Given the description of an element on the screen output the (x, y) to click on. 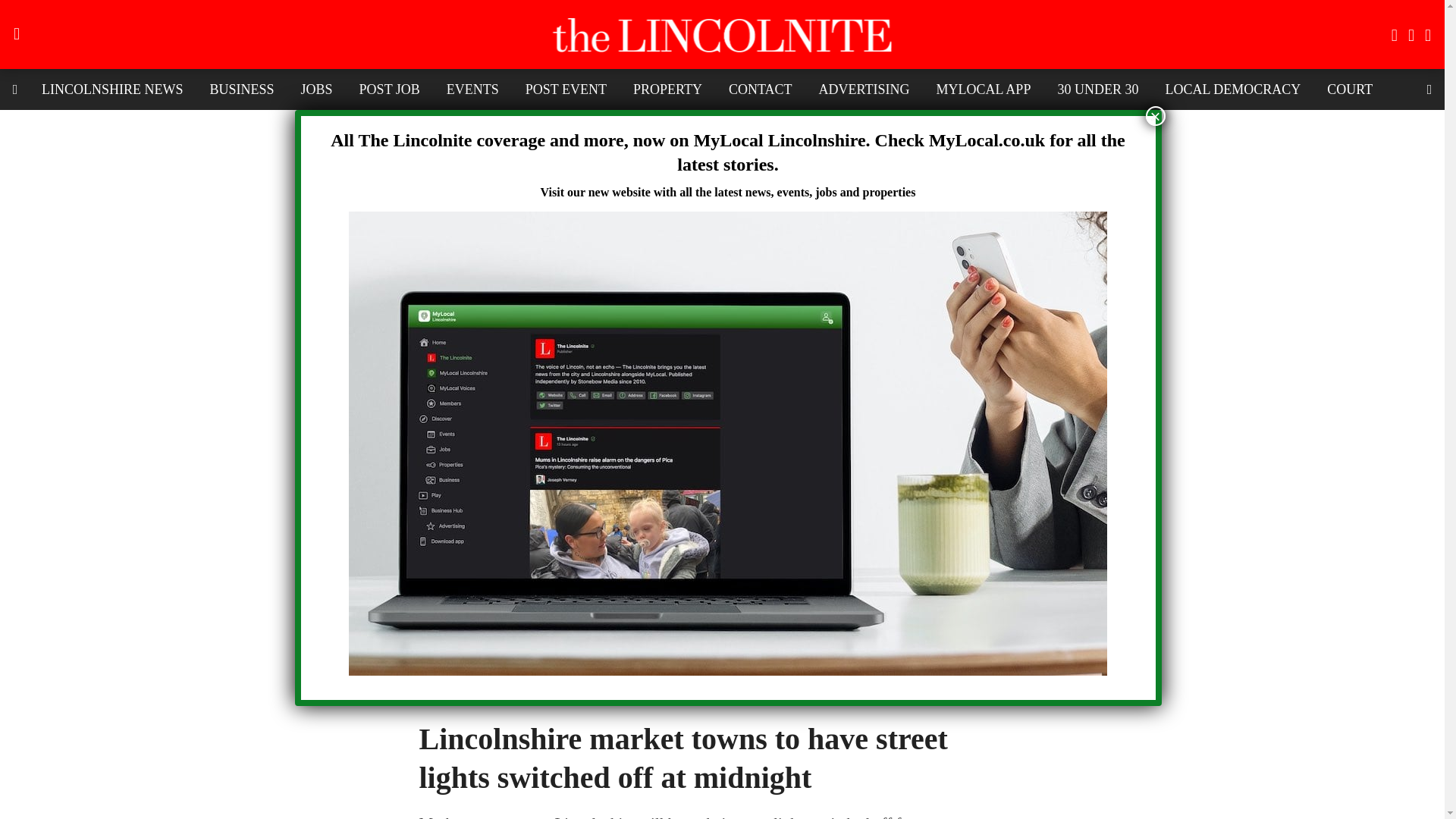
ADVERTISING (864, 88)
LINCOLNSHIRE NEWS (112, 88)
EVENTS (473, 88)
30 UNDER 30 (1097, 88)
BUSINESS (241, 88)
POST EVENT (565, 88)
CONTACT (760, 88)
LOCAL DEMOCRACY (1232, 88)
MYLOCAL APP (983, 88)
PROPERTY (667, 88)
POST JOB (388, 88)
COURT (1350, 88)
JOBS (316, 88)
